Given the description of an element on the screen output the (x, y) to click on. 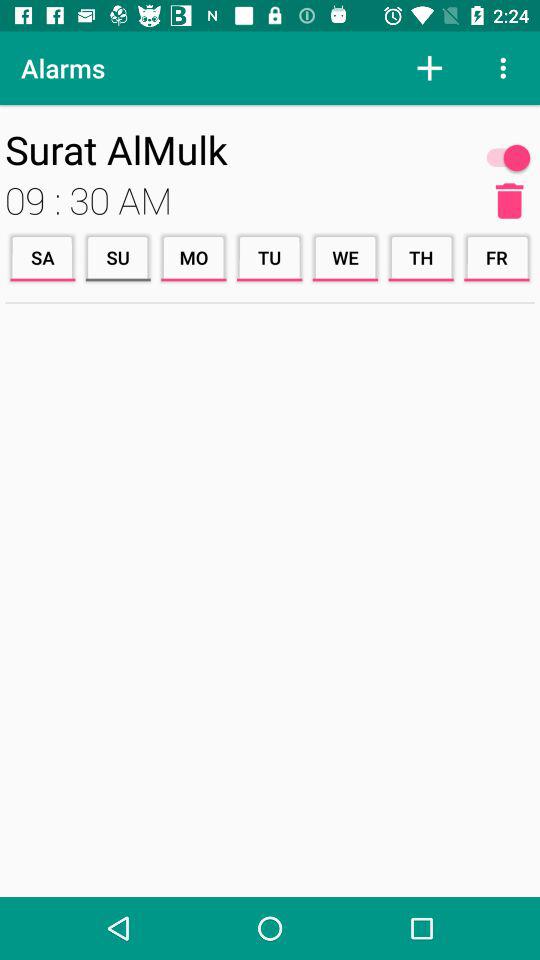
scroll to th (421, 257)
